Given the description of an element on the screen output the (x, y) to click on. 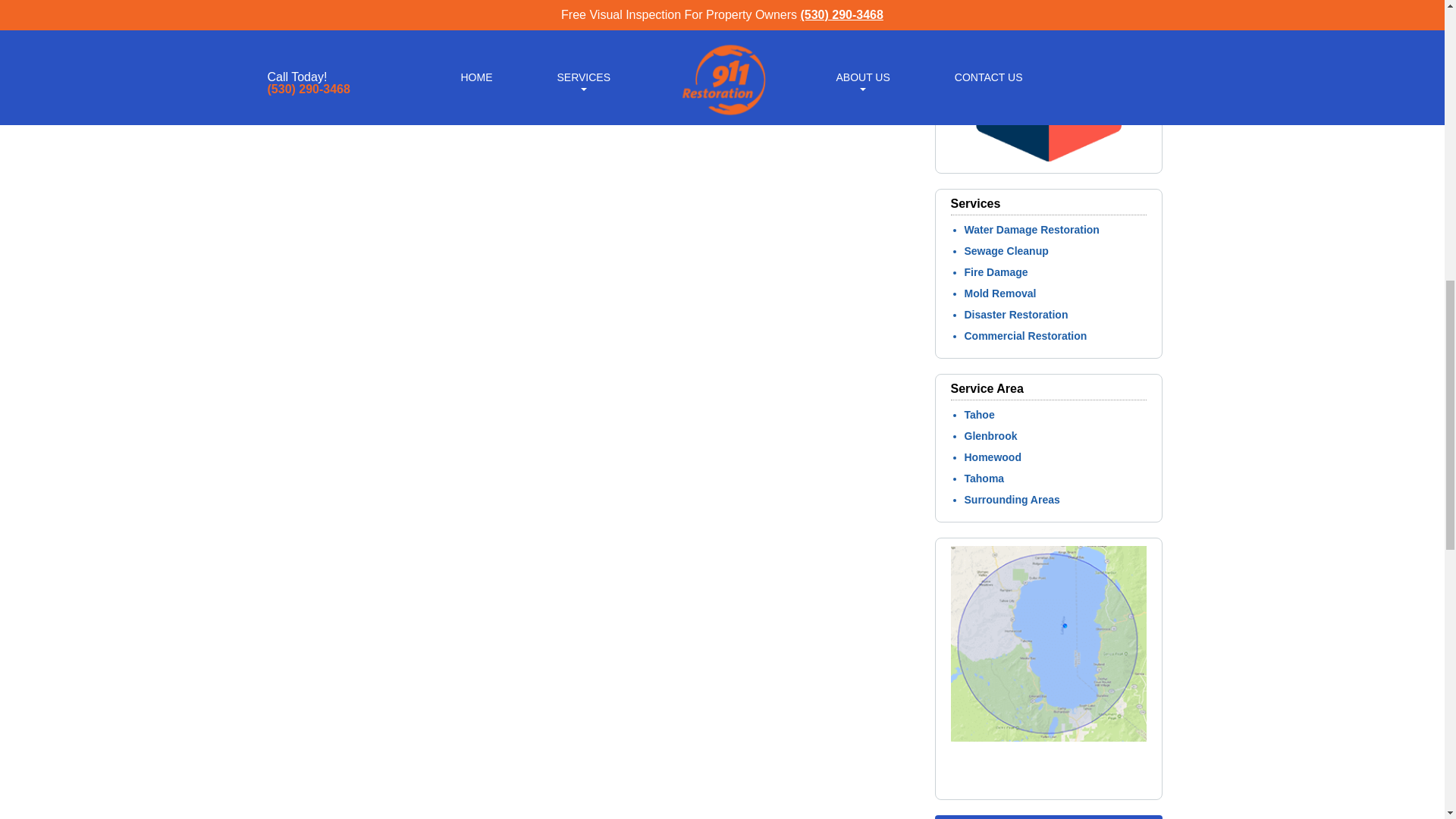
Service Area (1048, 784)
